Given the description of an element on the screen output the (x, y) to click on. 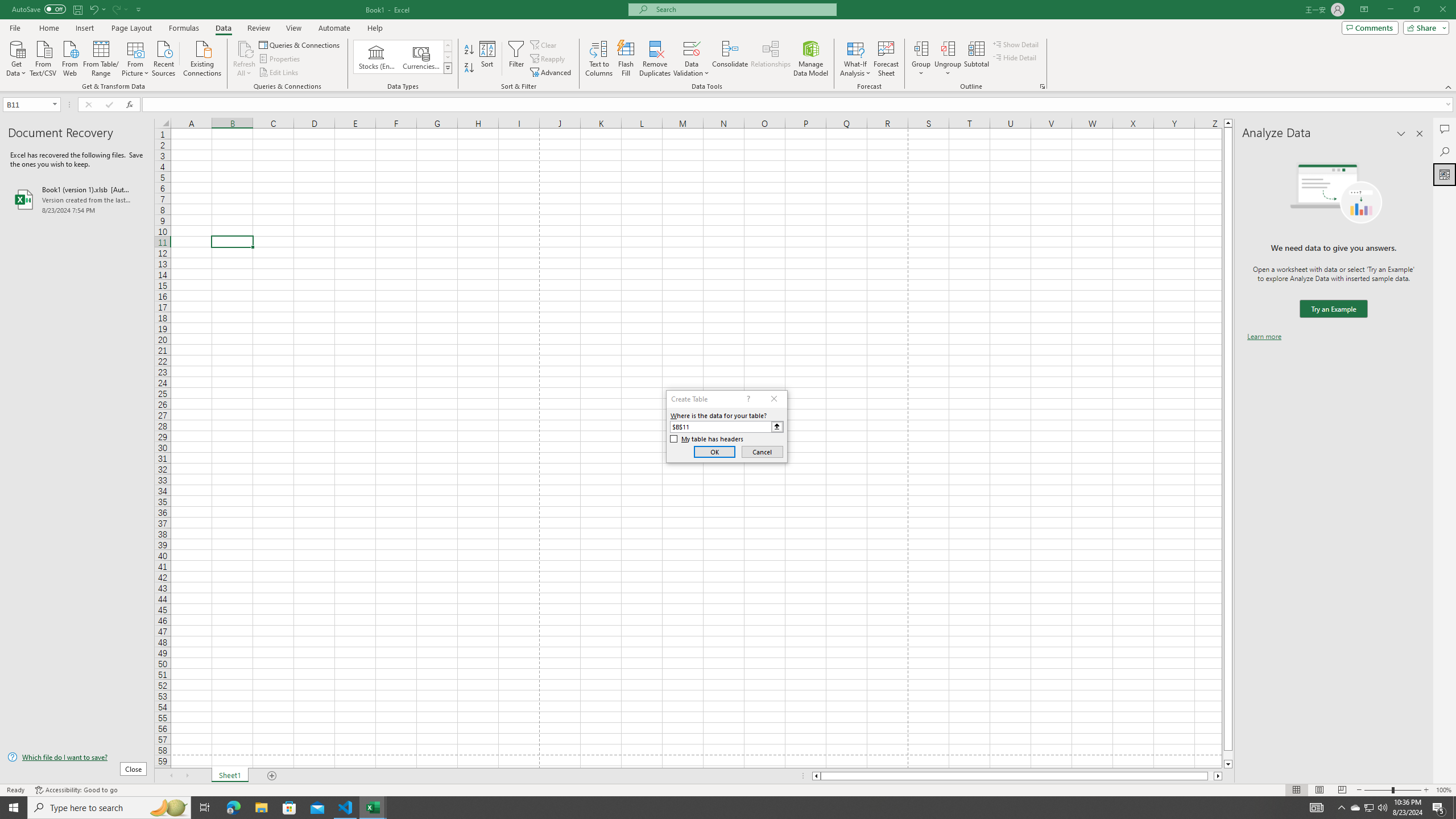
Show Detail (1016, 44)
Task Pane Options (1400, 133)
AutomationID: ConvertToLinkedEntity (403, 56)
Edit Links (279, 72)
Advanced... (551, 72)
What-If Analysis (855, 58)
